Given the description of an element on the screen output the (x, y) to click on. 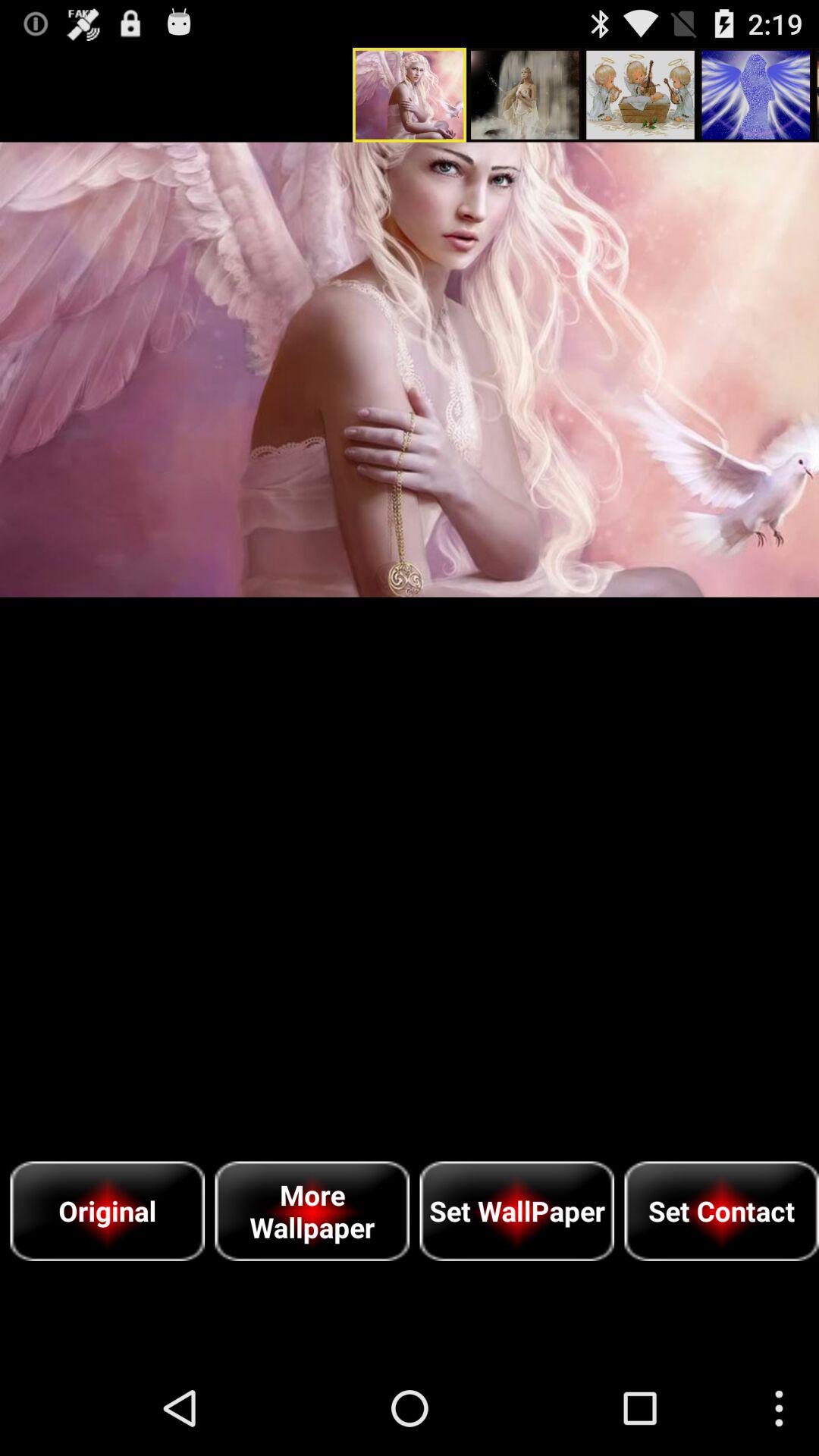
tap the item to the left of the more wallpaper icon (107, 1210)
